Given the description of an element on the screen output the (x, y) to click on. 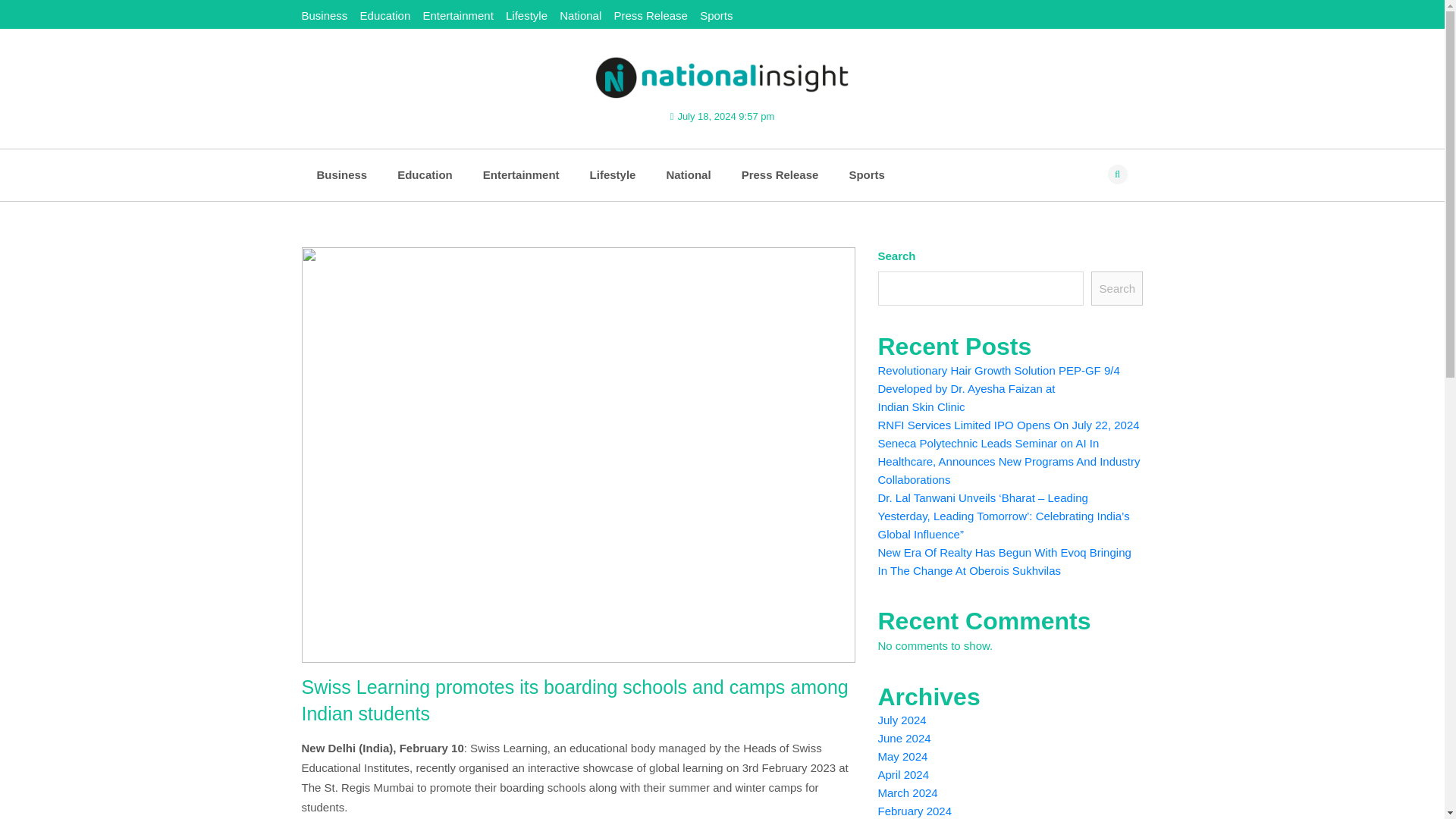
Sports (865, 174)
Entertainment (521, 174)
Lifestyle (612, 174)
Search (1116, 288)
Business (341, 174)
NATIONAL INSIGHT (721, 149)
Education (424, 174)
Lifestyle (612, 174)
Lifestyle (526, 15)
Entertainment (521, 174)
Business (341, 174)
National (687, 174)
Education (424, 174)
National (687, 174)
